Given the description of an element on the screen output the (x, y) to click on. 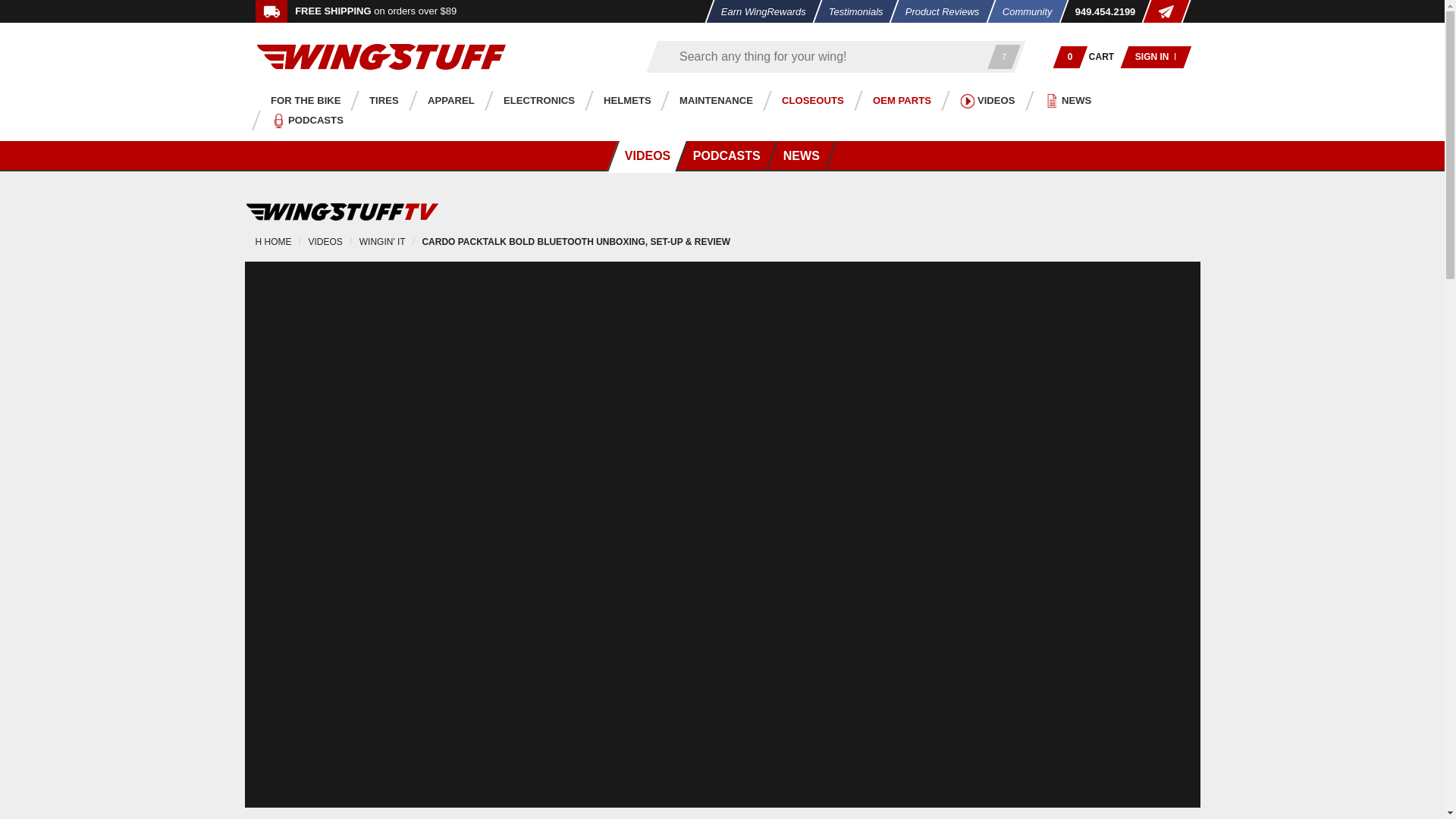
949.454.2199 (1099, 11)
FOR THE BIKE (300, 100)
Earn WingRewards (758, 11)
Product Reviews (938, 11)
WingStuff TV (341, 211)
Community (1021, 11)
Testimonials (850, 11)
WingStuff (380, 55)
CART (1101, 56)
